Given the description of an element on the screen output the (x, y) to click on. 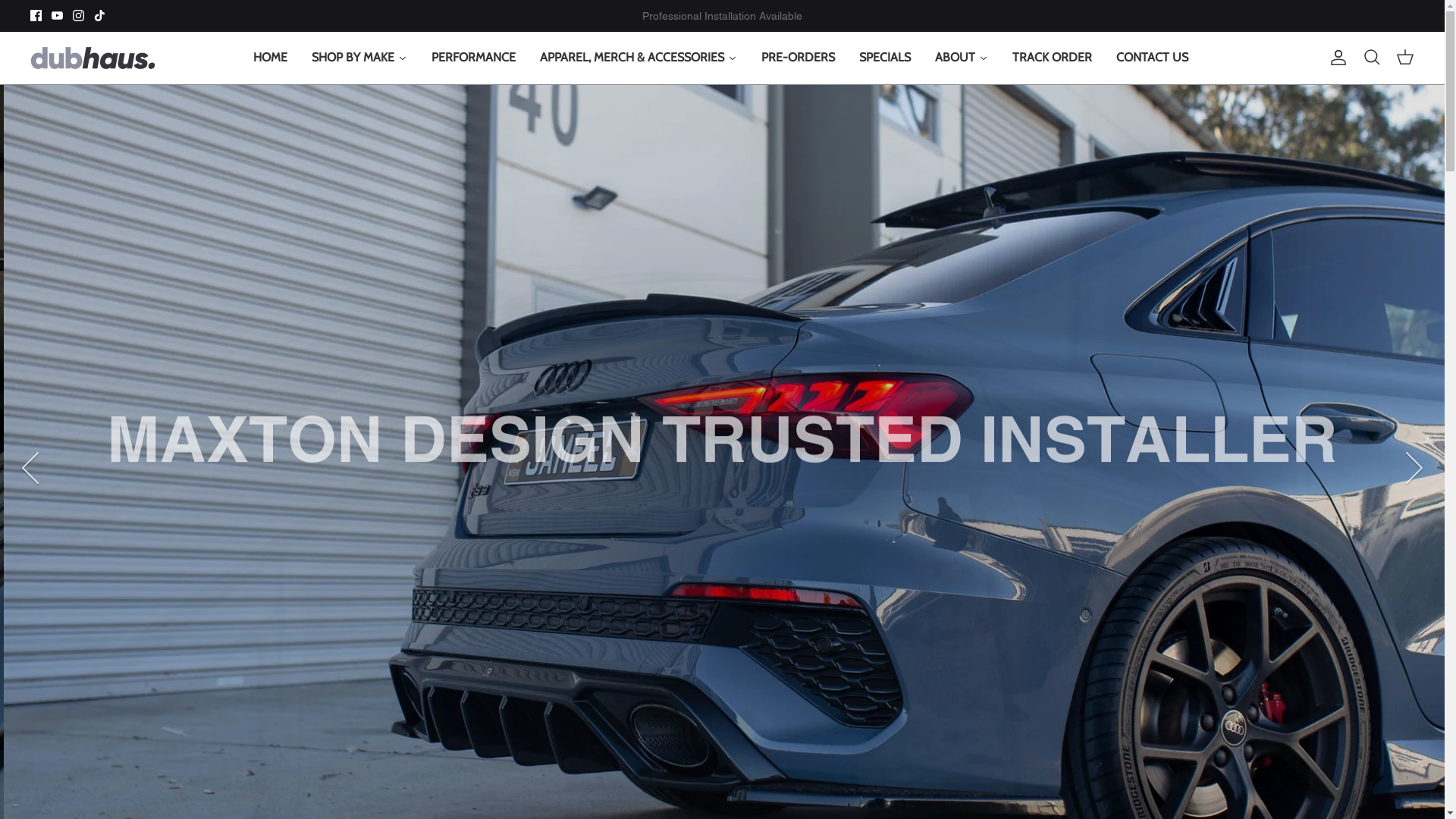
dubhaus. Element type: hover (92, 58)
Left Element type: text (30, 467)
PRE-ORDERS Element type: text (798, 57)
Youtube Element type: text (56, 15)
PERFORMANCE Element type: text (472, 57)
Account Element type: text (1335, 57)
APPAREL, MERCH & ACCESSORIES Element type: text (638, 57)
WEATHERSHIELDS Element type: text (150, 386)
Cart Element type: text (1405, 57)
HOME Element type: text (270, 57)
BONNET PROTECTORS Element type: text (308, 386)
Instagram Element type: text (78, 15)
ABOUT Element type: text (960, 57)
Right Element type: text (1413, 467)
CONTACT US Element type: text (1152, 57)
SPECIALS Element type: text (884, 57)
TRACK ORDER Element type: text (1051, 57)
Facebook Element type: text (35, 15)
SHOP BY MAKE Element type: text (358, 57)
Search Element type: text (1371, 57)
